Given the description of an element on the screen output the (x, y) to click on. 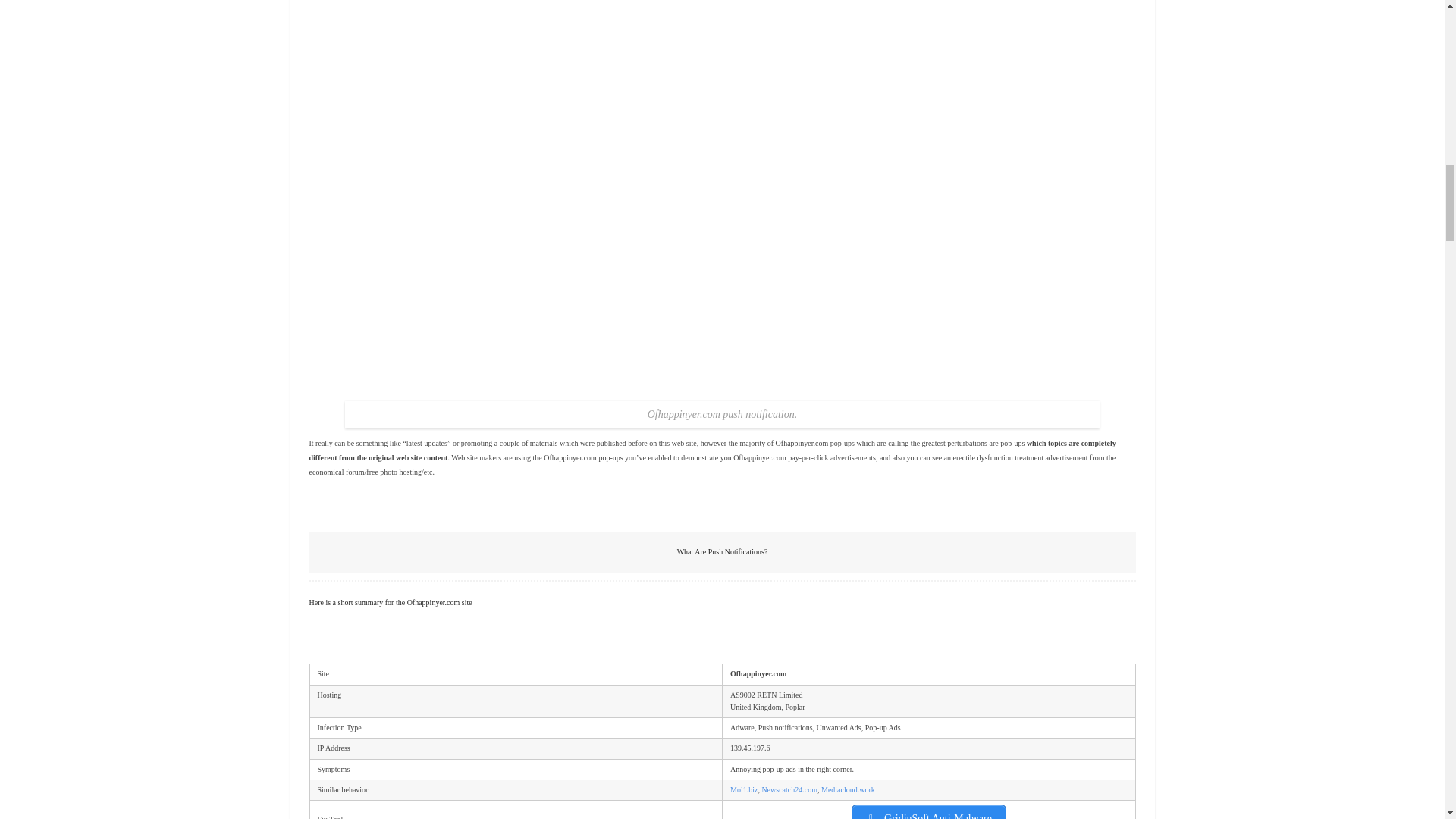
Newscatch24.com (788, 789)
Mol1.biz (743, 789)
Mediacloud.work (848, 789)
GridinSoft Anti-Malware (928, 811)
